Given the description of an element on the screen output the (x, y) to click on. 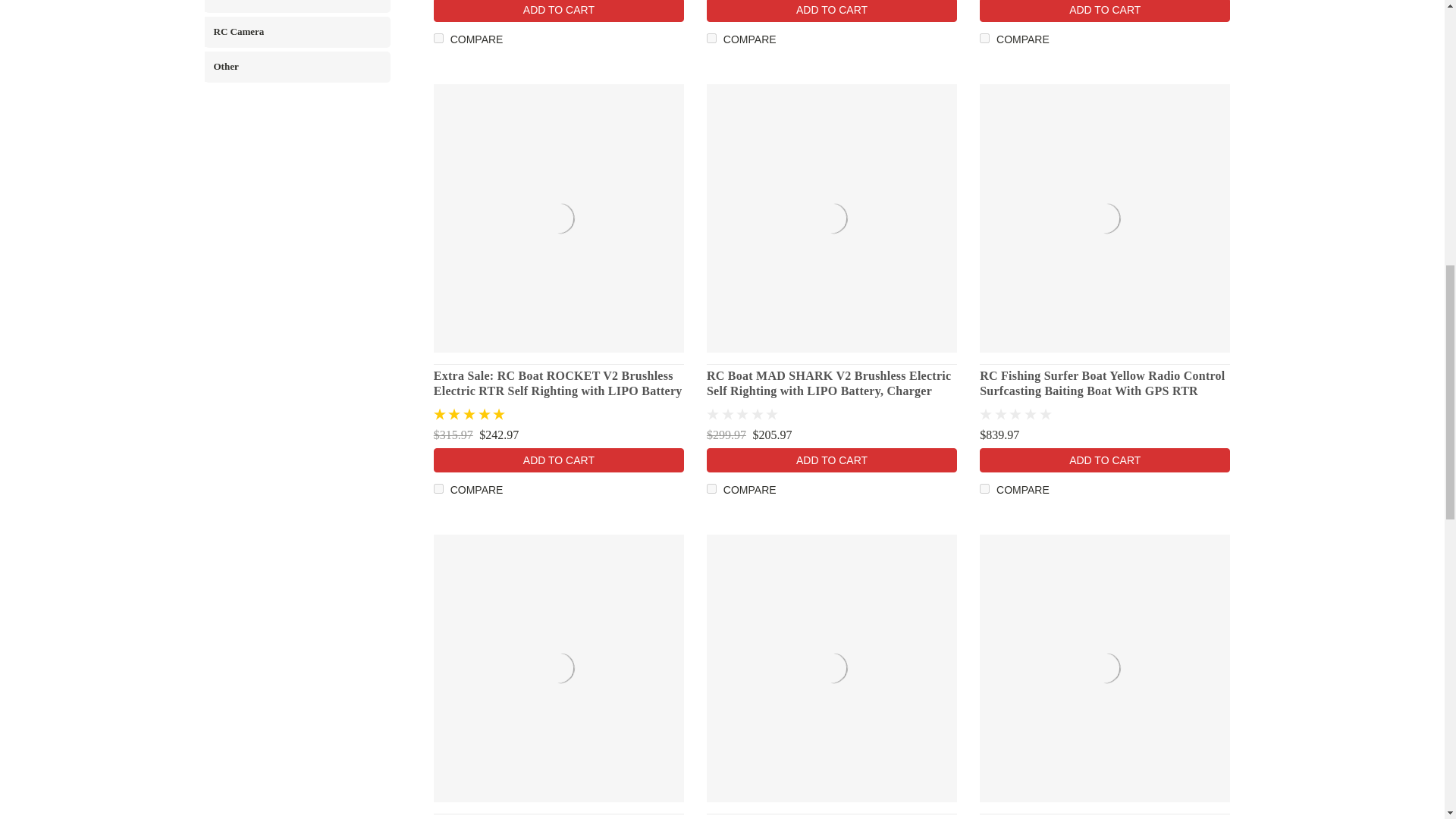
RC Bait Boat Joysway Radio Control Baiting 500 RTR   3151 V3 (559, 668)
1764 (438, 38)
2009 (984, 38)
3003 (984, 488)
3005 (711, 38)
2506 (438, 488)
3006 (711, 488)
